Given the description of an element on the screen output the (x, y) to click on. 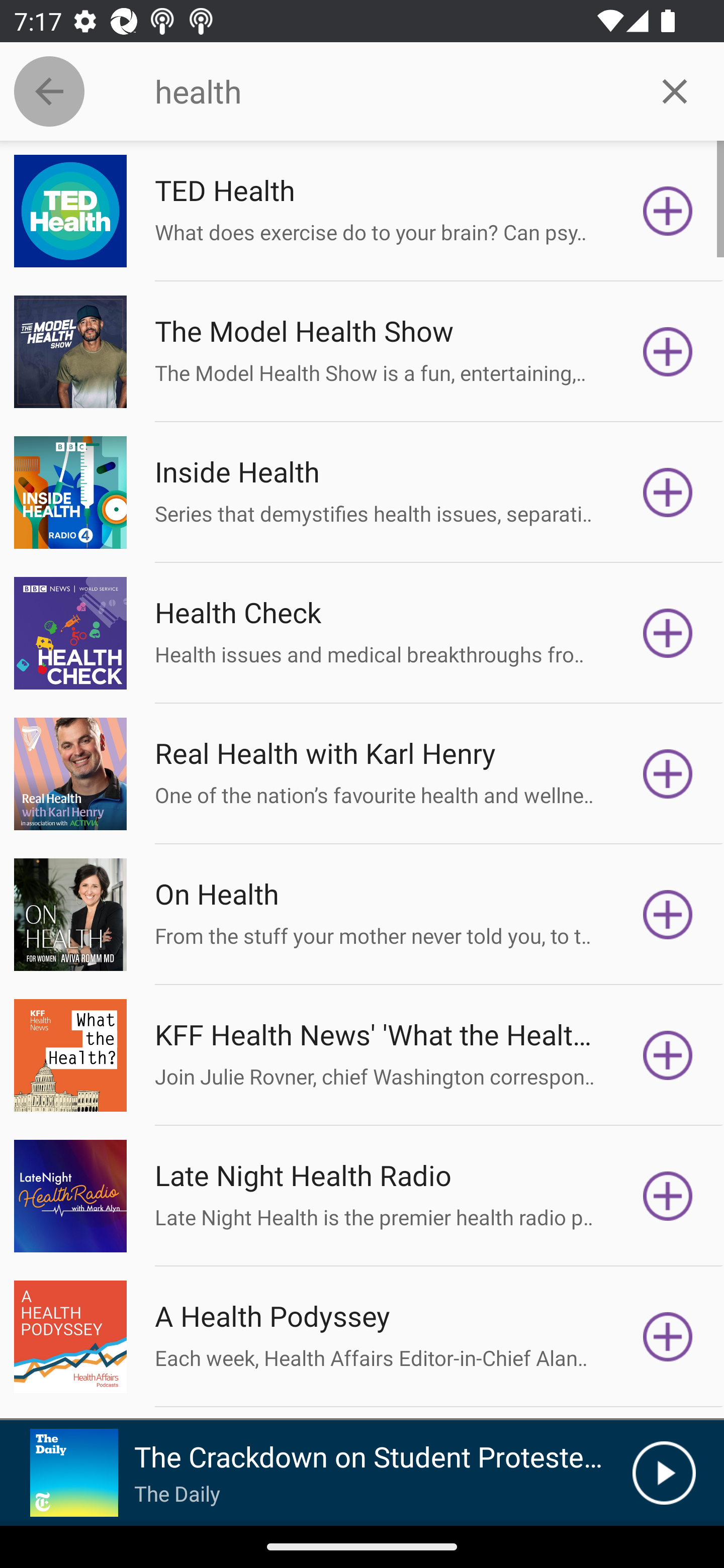
Collapse (49, 91)
Clear query (674, 90)
health (389, 91)
Subscribe (667, 211)
Subscribe (667, 350)
Subscribe (667, 491)
Subscribe (667, 633)
Subscribe (667, 773)
Subscribe (667, 913)
Subscribe (667, 1054)
Subscribe (667, 1195)
Subscribe (667, 1336)
Play (663, 1472)
